Given the description of an element on the screen output the (x, y) to click on. 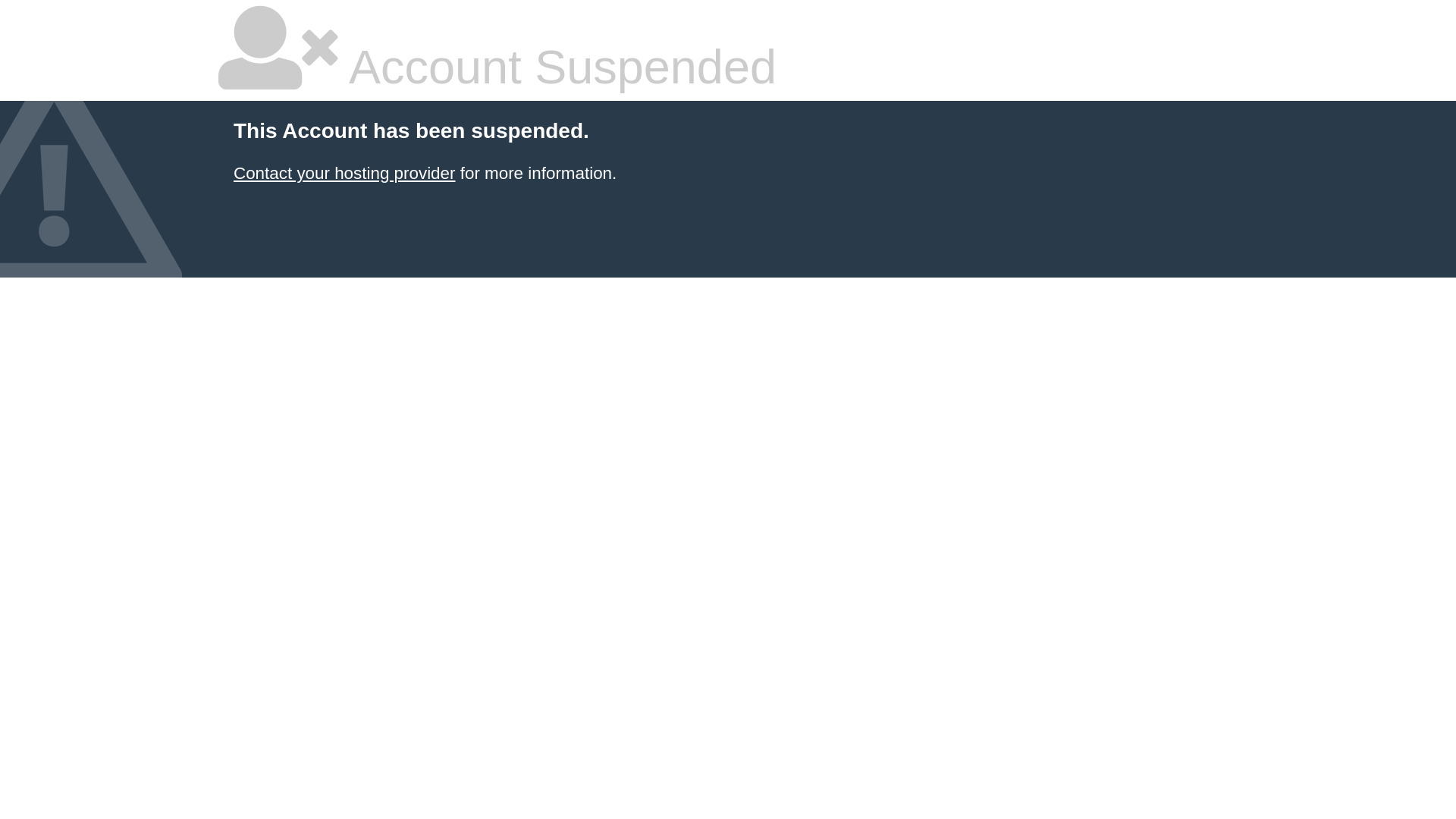
Contact your hosting provider Element type: text (344, 172)
